Given the description of an element on the screen output the (x, y) to click on. 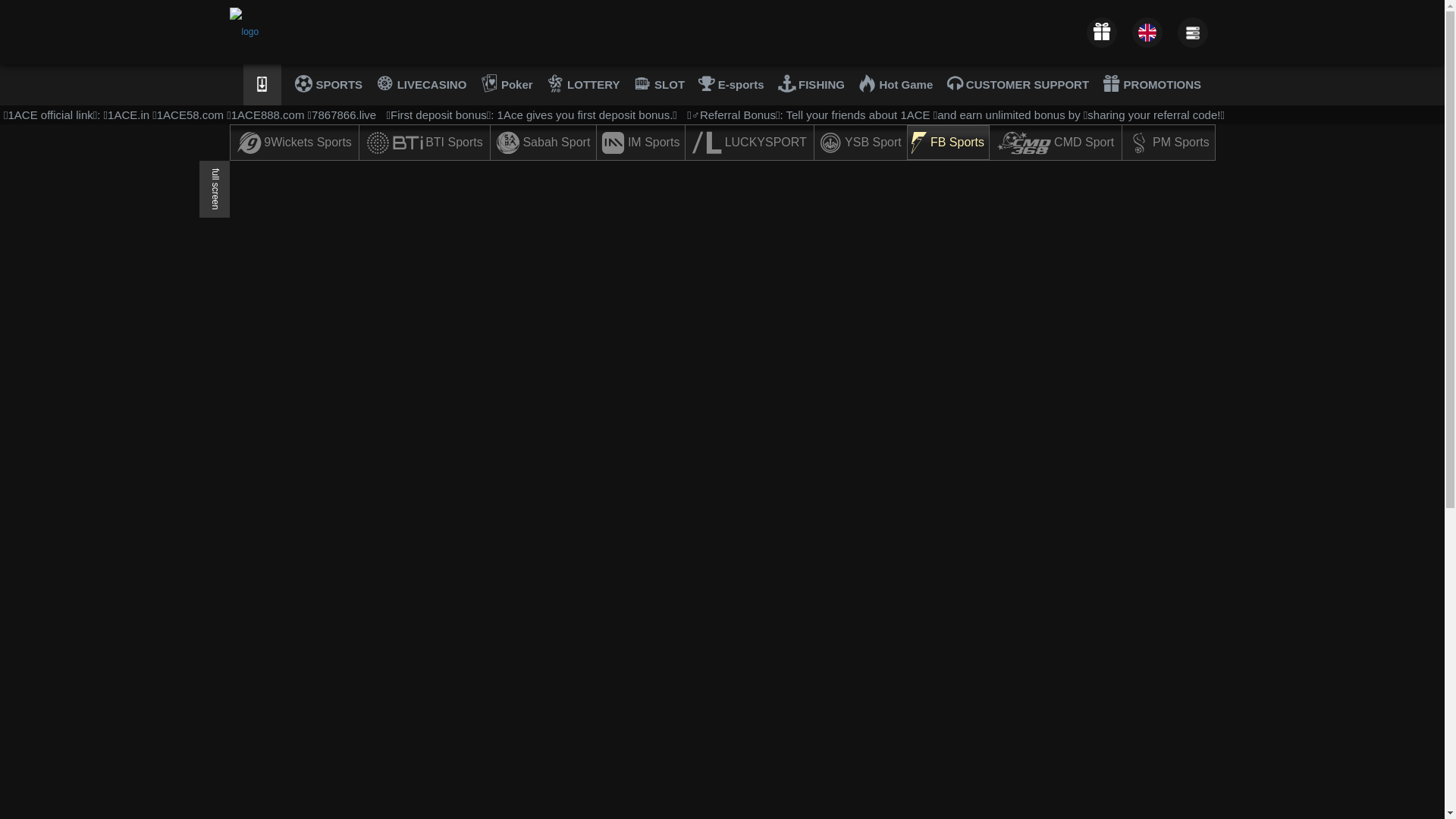
PROMOTIONS Element type: text (1151, 84)
BTI Sports Element type: text (424, 142)
CUSTOMER SUPPORT Element type: text (1017, 84)
SPORTS Element type: text (328, 84)
LUCKYSPORT Element type: text (749, 142)
LOTTERY Element type: text (583, 84)
full screen Element type: text (213, 188)
9Wickets Sports Element type: text (294, 142)
YSB Sport Element type: text (860, 142)
Poker Element type: text (506, 84)
Hot Game Element type: text (895, 84)
PM Sports Element type: text (1168, 142)
CMD Sport Element type: text (1055, 142)
SLOT Element type: text (658, 84)
FISHING Element type: text (811, 84)
LIVECASINO Element type: text (421, 84)
IM Sports Element type: text (640, 142)
FB Sports Element type: text (947, 142)
Sabah Sport Element type: text (543, 142)
E-sports Element type: text (730, 84)
Daily Check-in for Rewards Element type: hover (1100, 31)
